Given the description of an element on the screen output the (x, y) to click on. 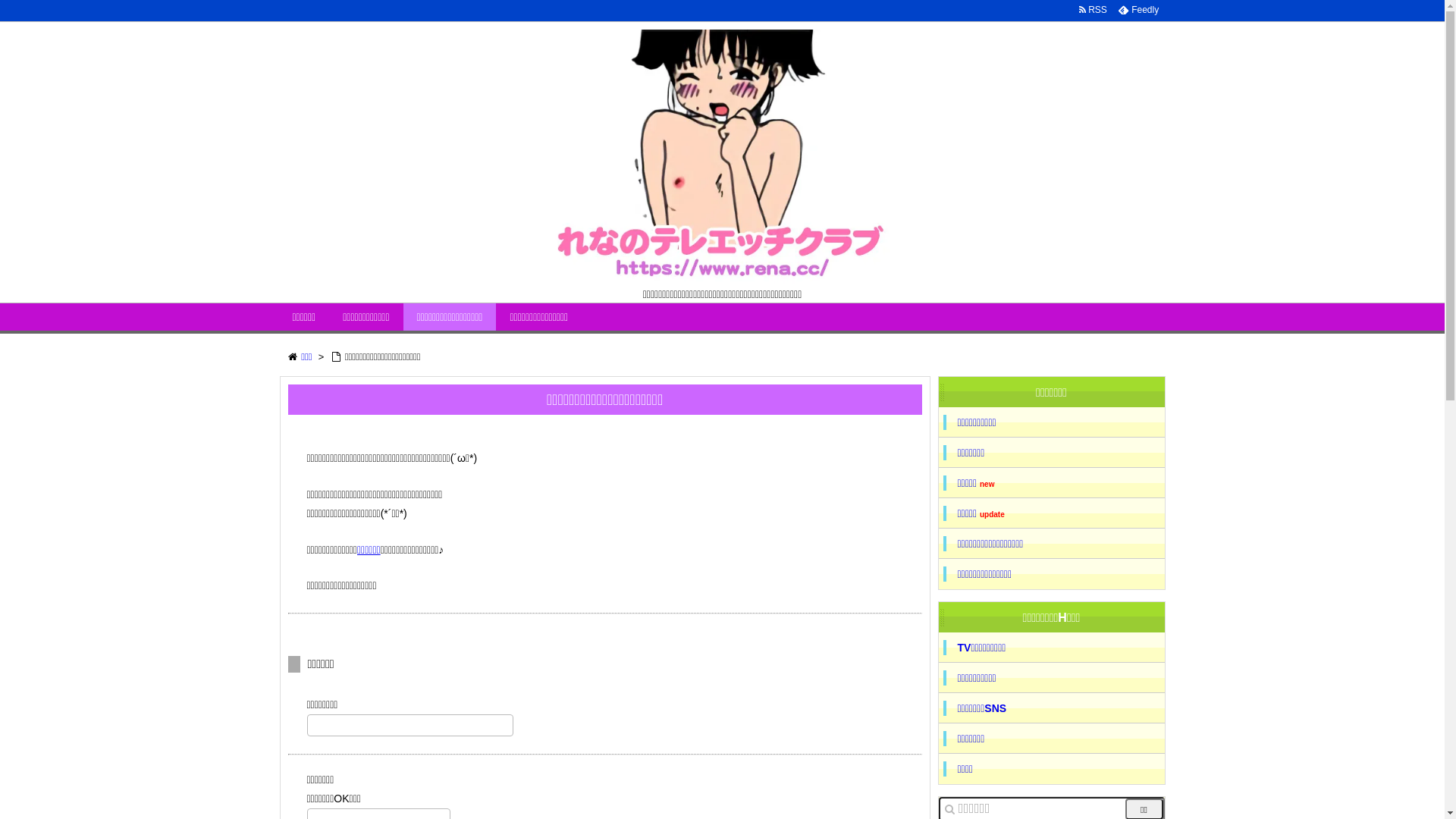
  RSS  Element type: text (1092, 9)
  Feedly  Element type: text (1138, 9)
